Given the description of an element on the screen output the (x, y) to click on. 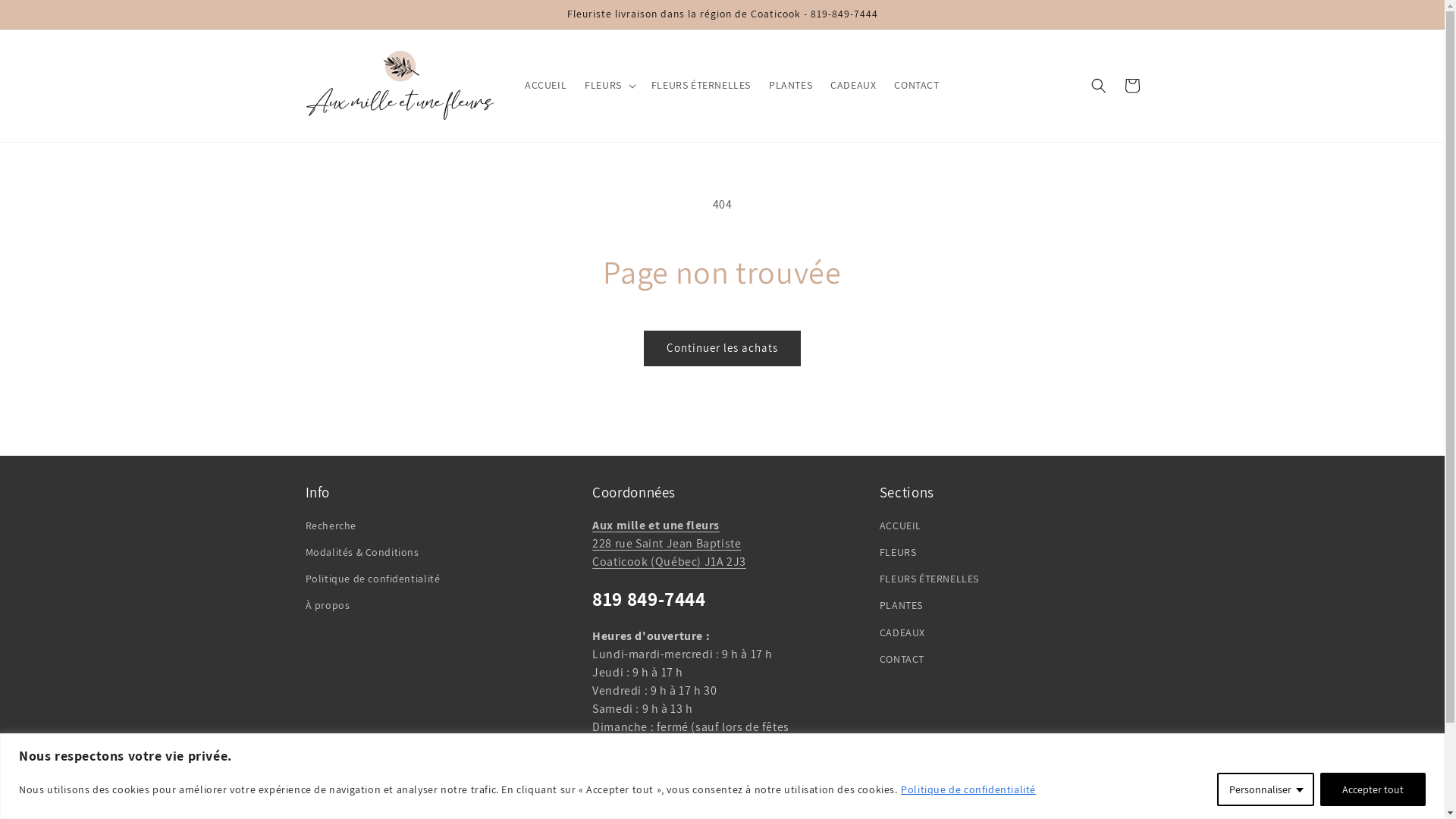
PLANTES Element type: text (900, 605)
PLANTES Element type: text (790, 84)
Facebook Element type: text (721, 793)
CADEAUX Element type: text (902, 632)
ACCUEIL Element type: text (545, 84)
CONTACT Element type: text (915, 84)
Personnaliser Element type: text (1265, 788)
Accepter tout Element type: text (1372, 788)
Panier Element type: text (1131, 85)
Recherche Element type: text (329, 527)
Continuer les achats Element type: text (721, 348)
CONTACT Element type: text (901, 659)
CADEAUX Element type: text (852, 84)
FLEURS Element type: text (897, 552)
ACCUEIL Element type: text (900, 527)
